Given the description of an element on the screen output the (x, y) to click on. 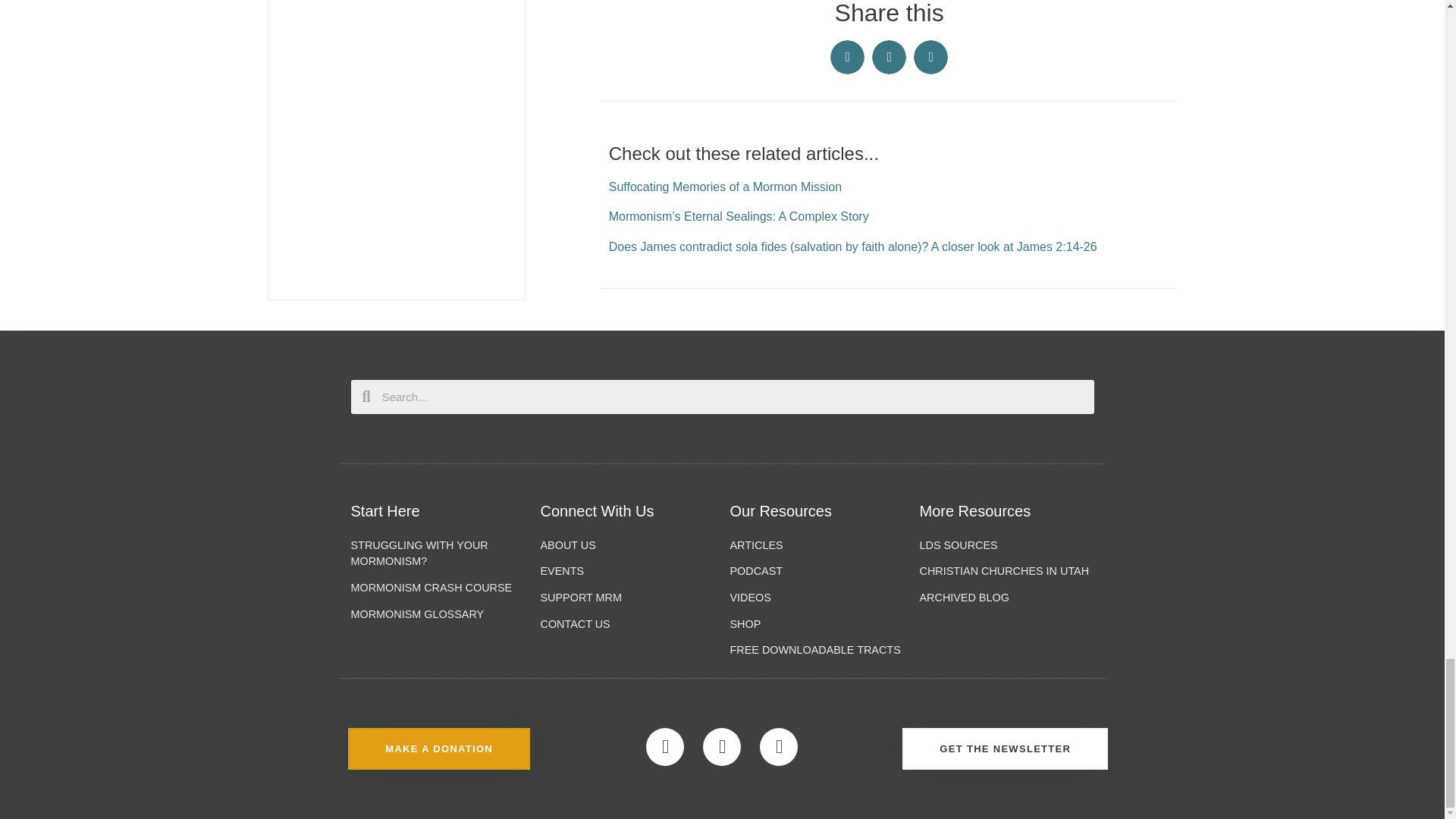
Search (732, 397)
